Given the description of an element on the screen output the (x, y) to click on. 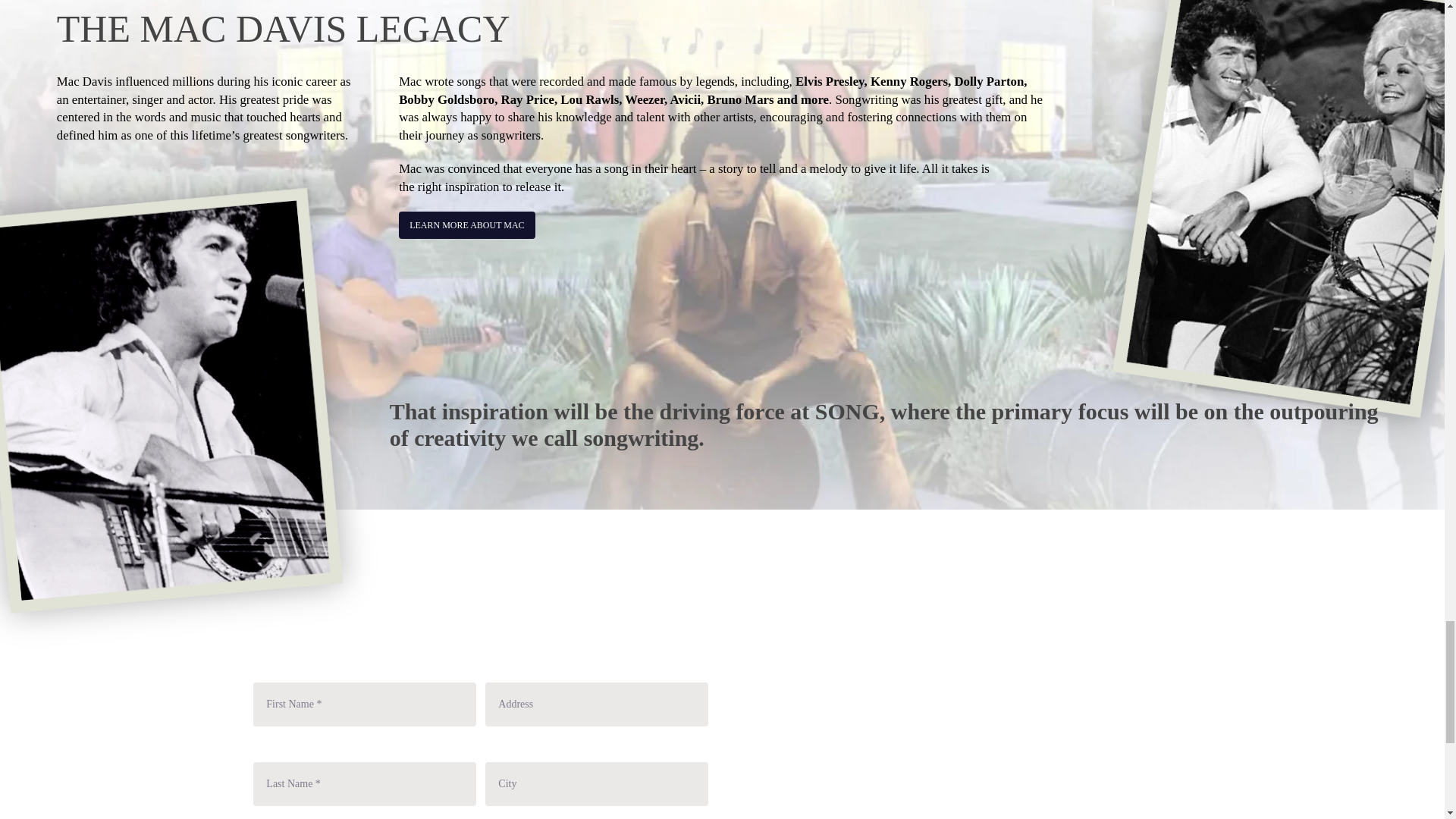
LEARN MORE ABOUT MAC (466, 225)
